Given the description of an element on the screen output the (x, y) to click on. 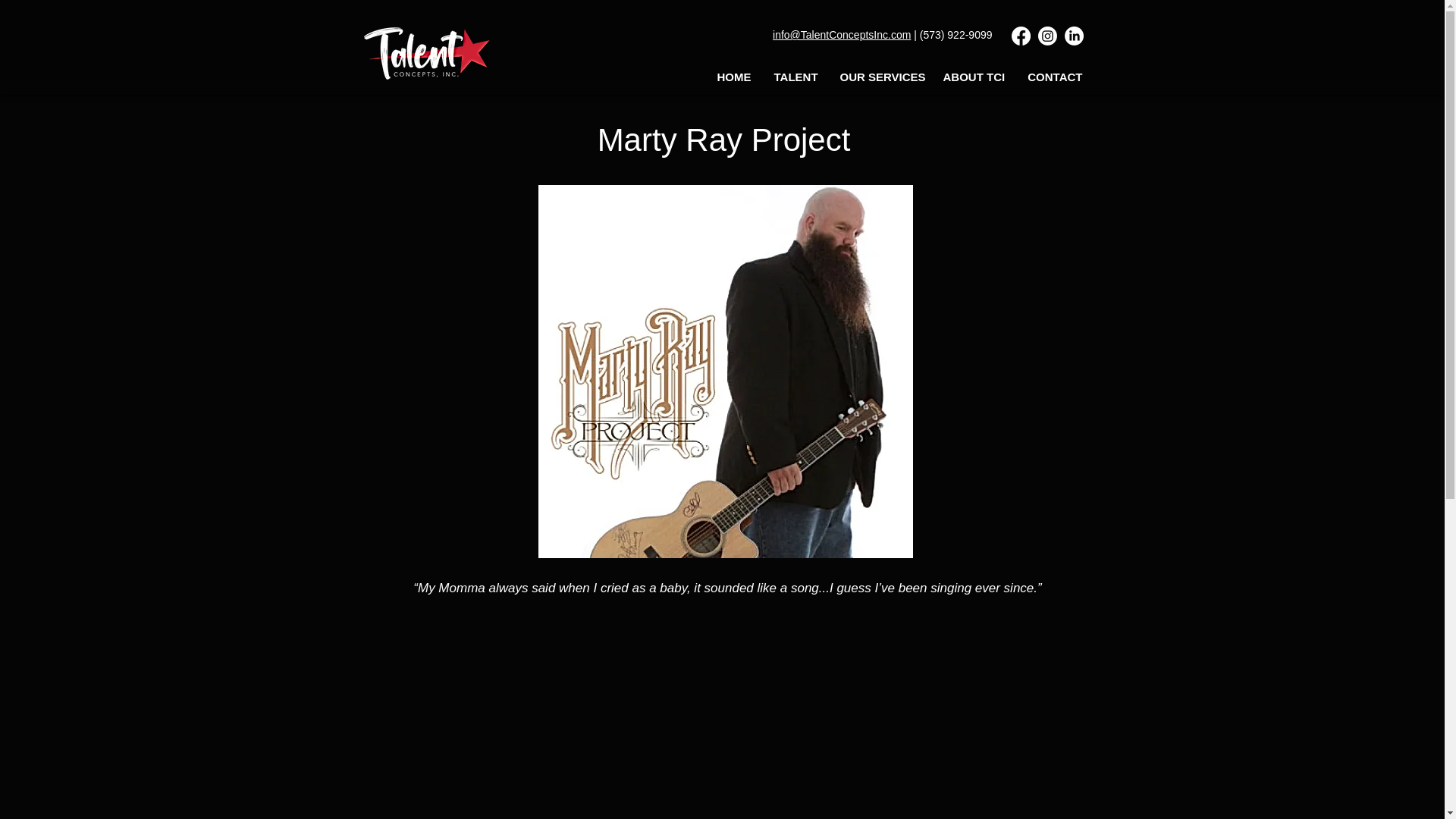
ABOUT TCI (972, 76)
OUR SERVICES (879, 76)
HOME (732, 76)
External YouTube (723, 722)
CONTACT (1055, 76)
TALENT (795, 76)
